Given the description of an element on the screen output the (x, y) to click on. 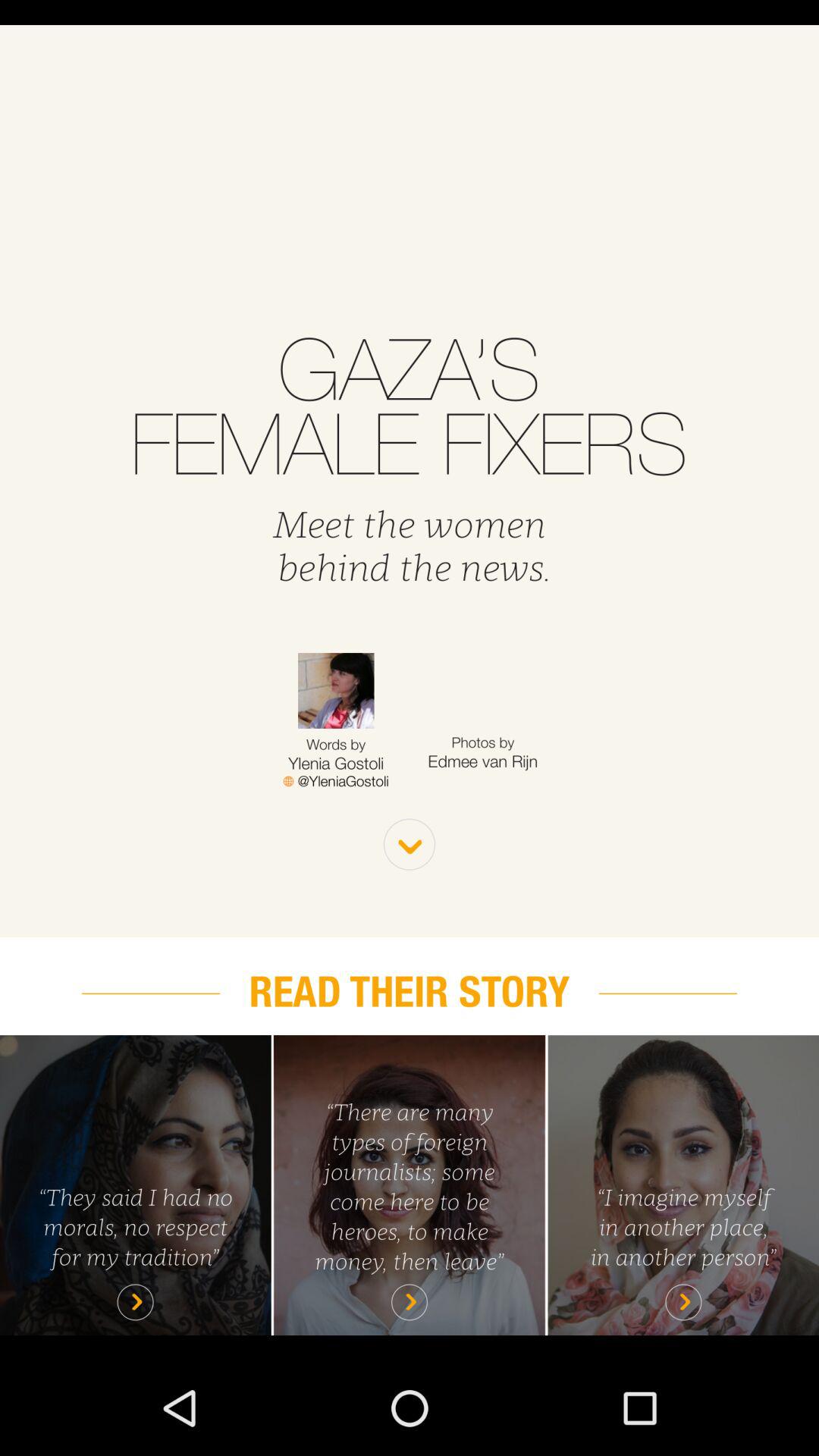
open story (683, 1184)
